Given the description of an element on the screen output the (x, y) to click on. 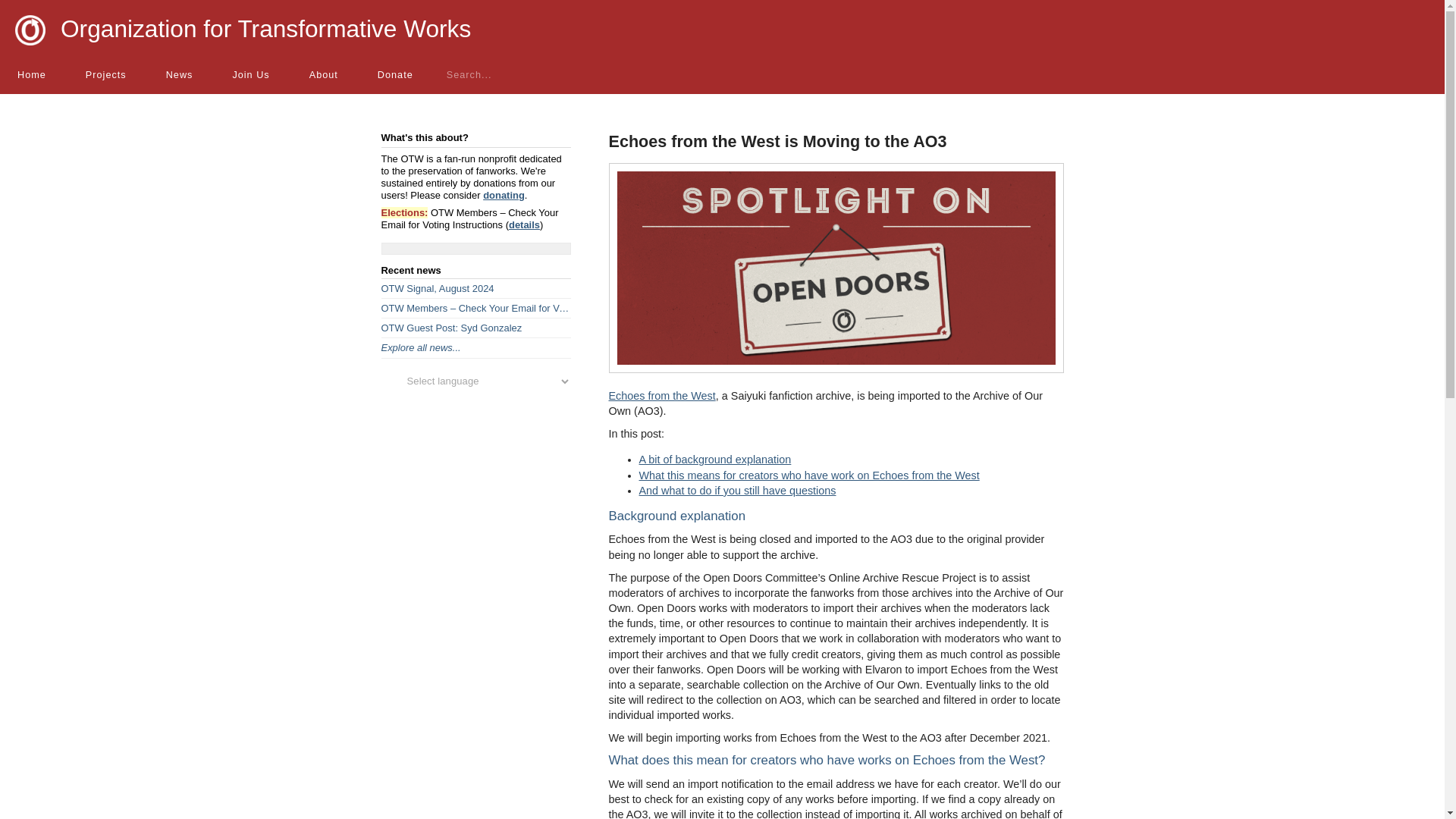
News (178, 74)
Organization for Transformative Works (265, 28)
OTW Signal, August 2024 (475, 288)
Background explanation (676, 515)
Projects (104, 74)
About (322, 74)
Organization for Transformative Works (265, 28)
A bit of background explanation (714, 459)
Explore all news... (475, 347)
And what to do if you still have questions (737, 490)
details (524, 224)
Skip to content (17, 108)
Join Us (249, 74)
